Given the description of an element on the screen output the (x, y) to click on. 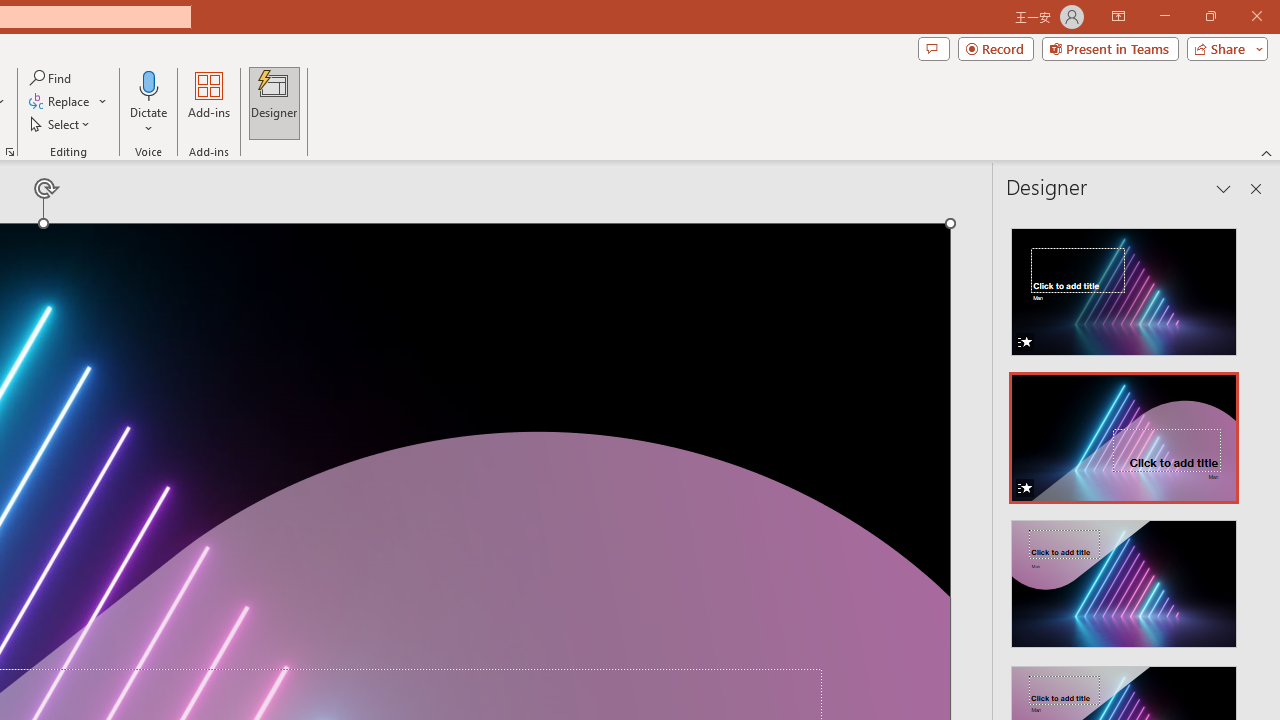
Design Idea with Animation (1124, 431)
